Given the description of an element on the screen output the (x, y) to click on. 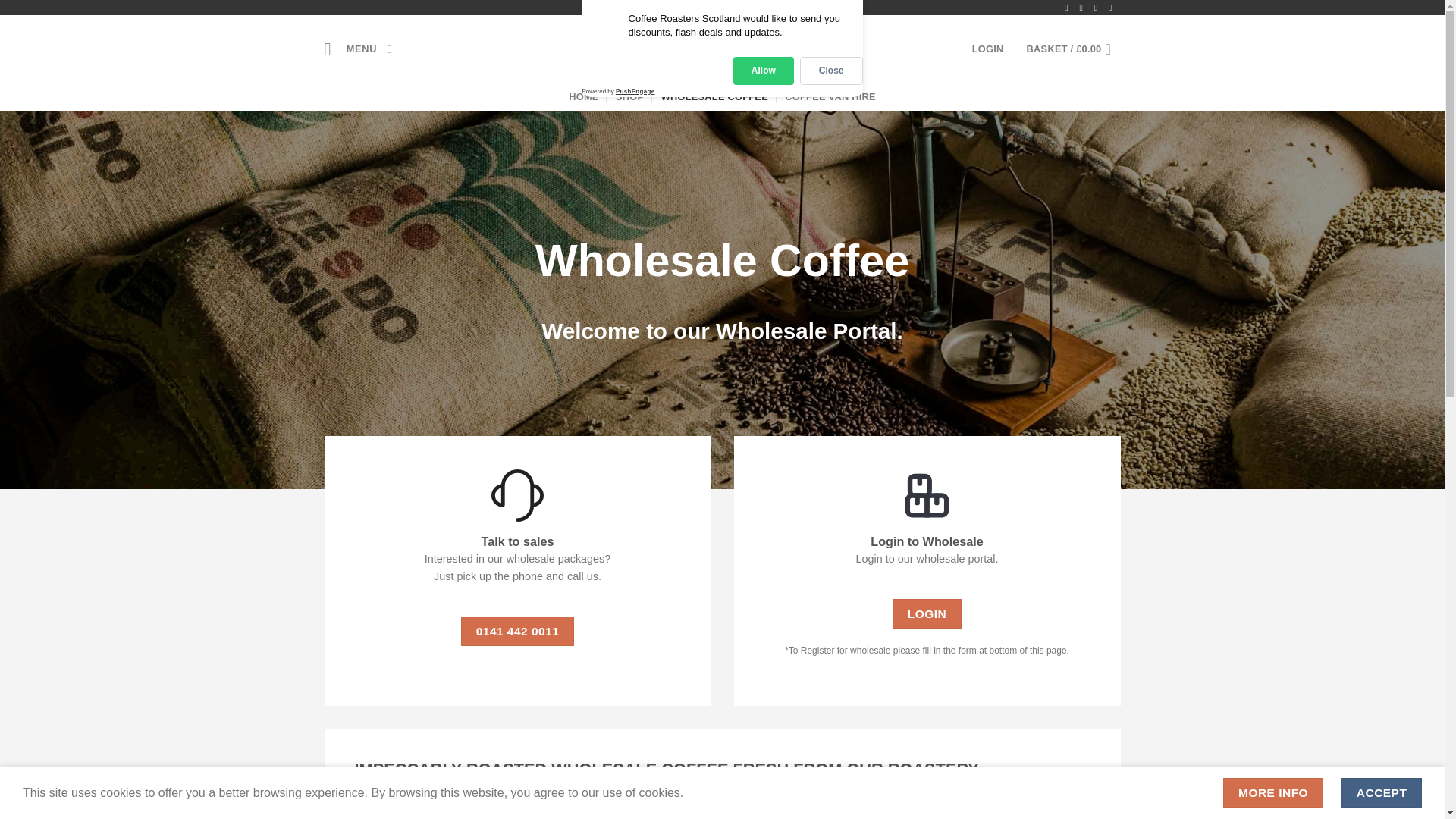
Coffee Roasters Scotland - Coffee Roasters Scotland (722, 48)
LOGIN (988, 49)
COFFEE VAN HIRE (830, 96)
0141 442 0011 (517, 631)
MENU (350, 48)
SHOP (629, 96)
Basket (1073, 49)
WHOLESALE COFFEE (714, 96)
HOME (583, 96)
LOGIN (926, 613)
